Given the description of an element on the screen output the (x, y) to click on. 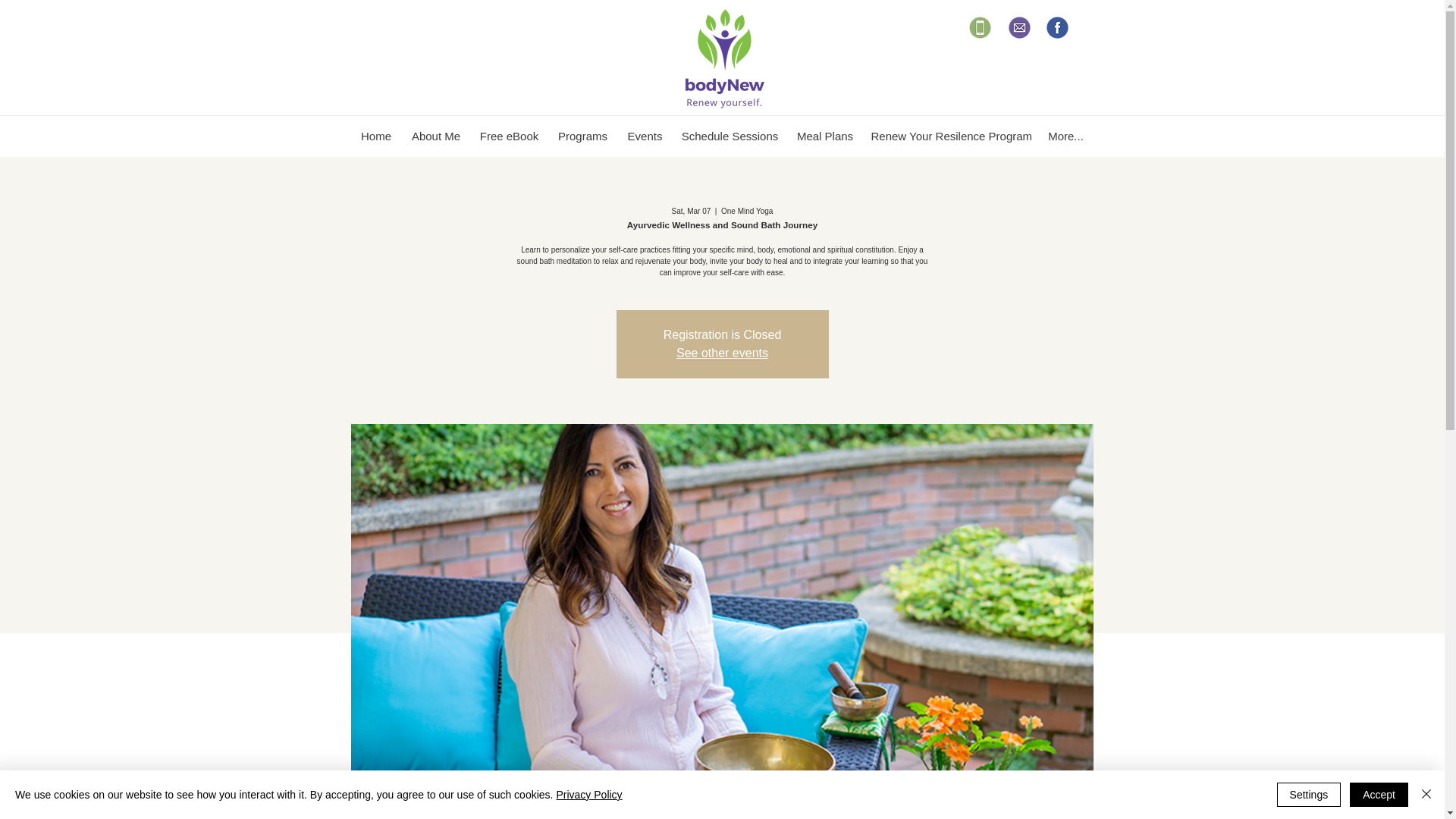
Meal Plans (824, 135)
Site Search (992, 95)
Home (375, 135)
Accept (1378, 794)
About Me (436, 135)
Schedule Sessions (728, 135)
Free eBook (508, 135)
Privacy Policy (588, 794)
Settings (1308, 794)
See other events (722, 352)
